Given the description of an element on the screen output the (x, y) to click on. 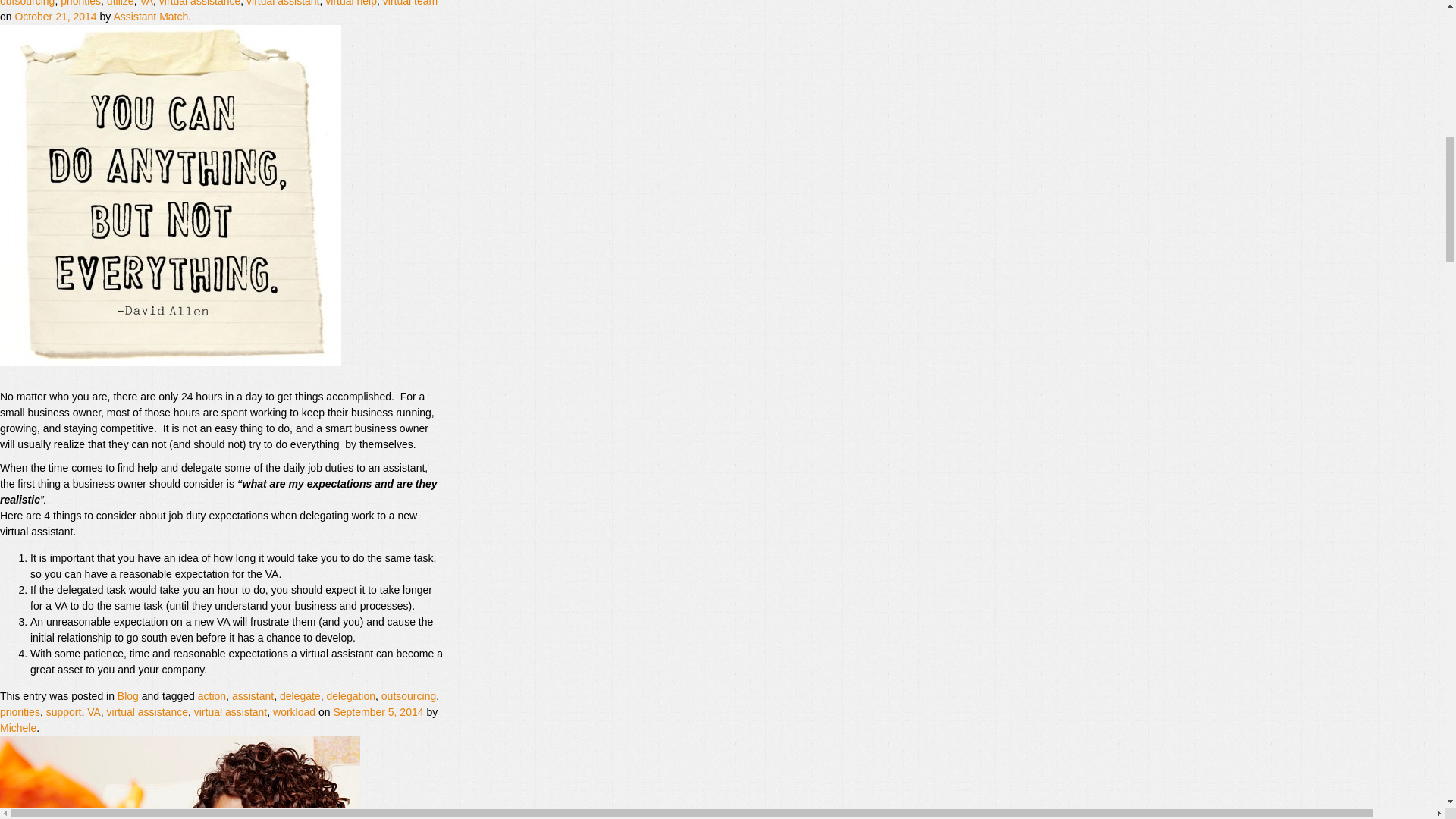
priorities (80, 3)
virtual help (350, 3)
Blog (127, 695)
11:46 pm (378, 711)
virtual assistant (282, 3)
Assistant Match (150, 16)
utilize (119, 3)
View all posts by Assistant Match (150, 16)
virtual assistance (199, 3)
VA (145, 3)
